Given the description of an element on the screen output the (x, y) to click on. 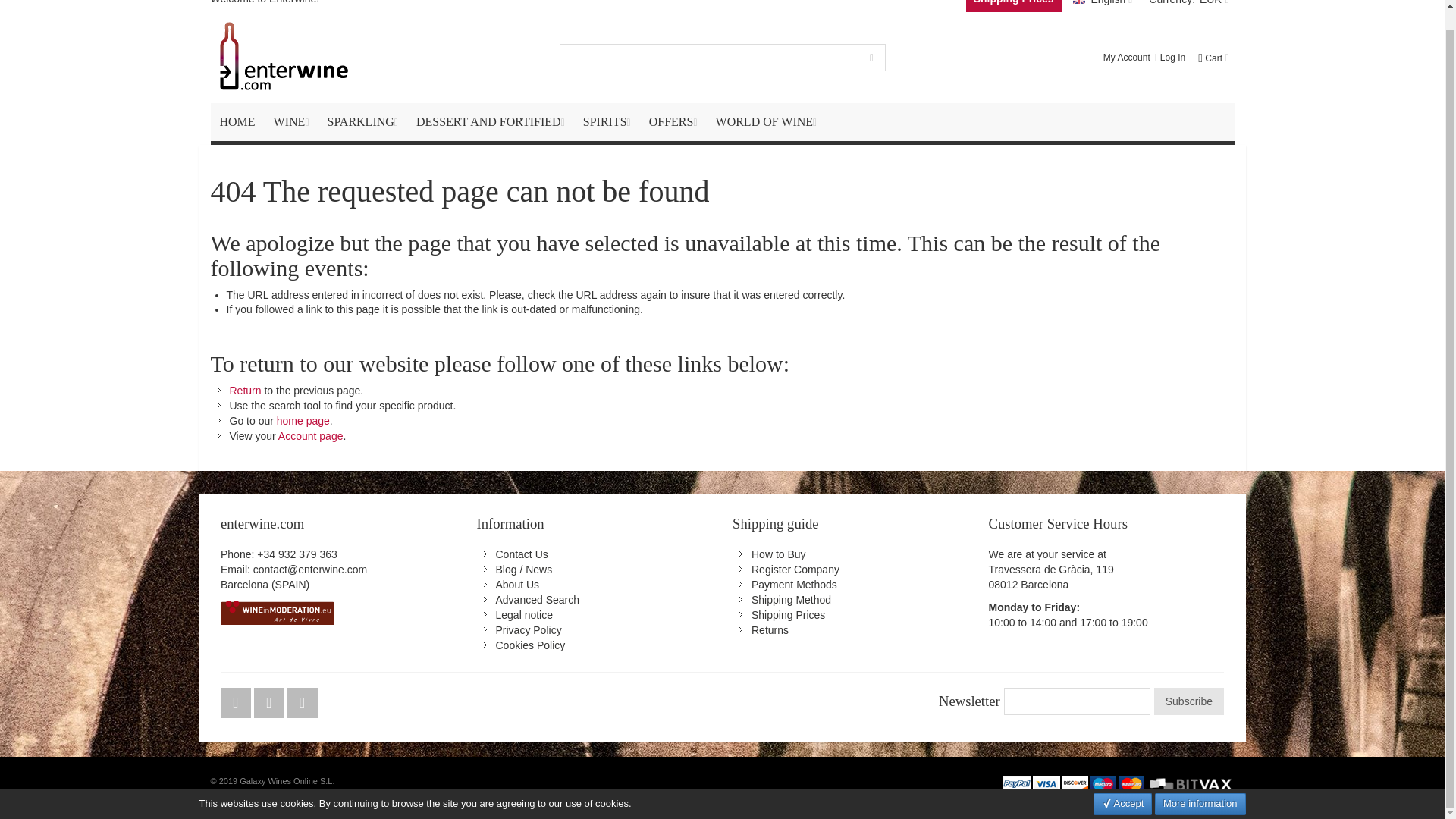
Shipping Method (791, 599)
DESSERT AND FORTIFIED (490, 121)
SPARKLING (362, 121)
Register Company (795, 569)
How to Buy (778, 553)
My Account (1126, 57)
  English (1101, 6)
Shipping Prices (1013, 6)
Legal notice (524, 614)
Log In (1172, 57)
SPIRITS (606, 121)
Shipping Prices (788, 614)
Currency: EUR (1187, 6)
Cookies Policy (531, 645)
WINE (291, 121)
